Given the description of an element on the screen output the (x, y) to click on. 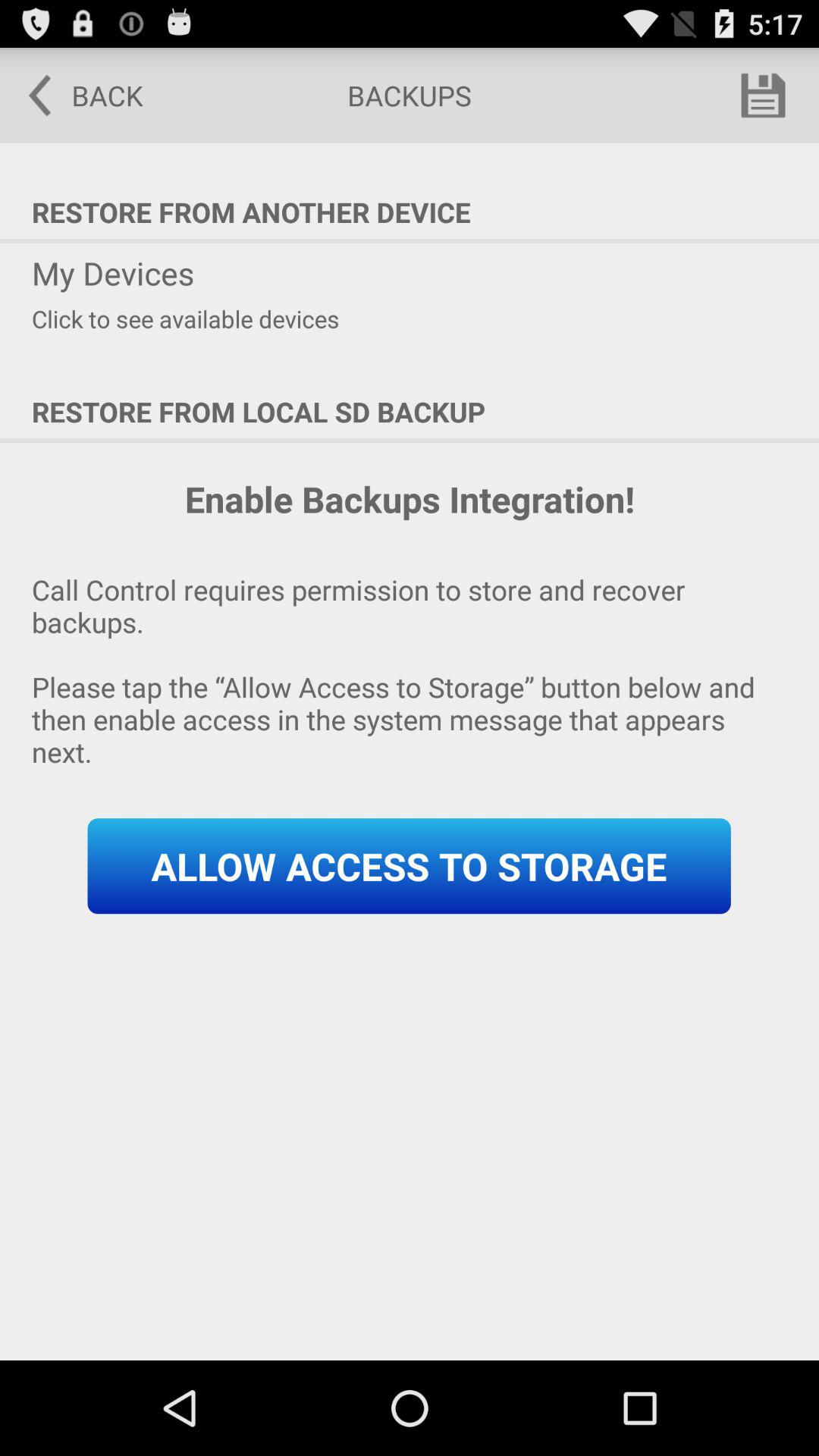
turn off icon above restore from another item (763, 95)
